Given the description of an element on the screen output the (x, y) to click on. 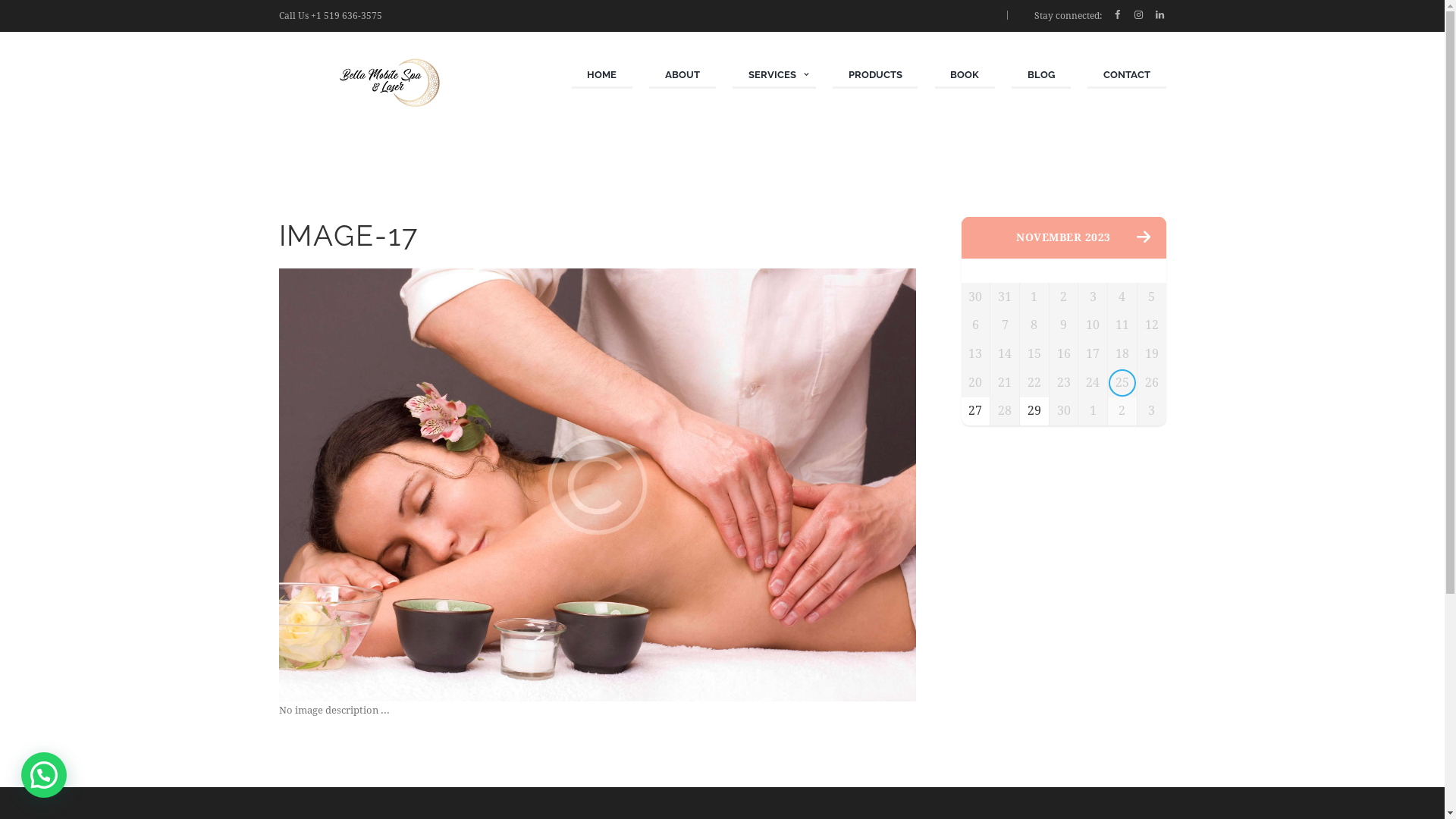
ABOUT Element type: text (682, 75)
PRODUCTS Element type: text (875, 75)
HOME Element type: text (602, 75)
CONTACT Element type: text (1126, 75)
+1 519 636-3575 Element type: text (346, 15)
BLOG Element type: text (1040, 75)
BOOK Element type: text (965, 75)
SERVICES Element type: text (773, 75)
